Given the description of an element on the screen output the (x, y) to click on. 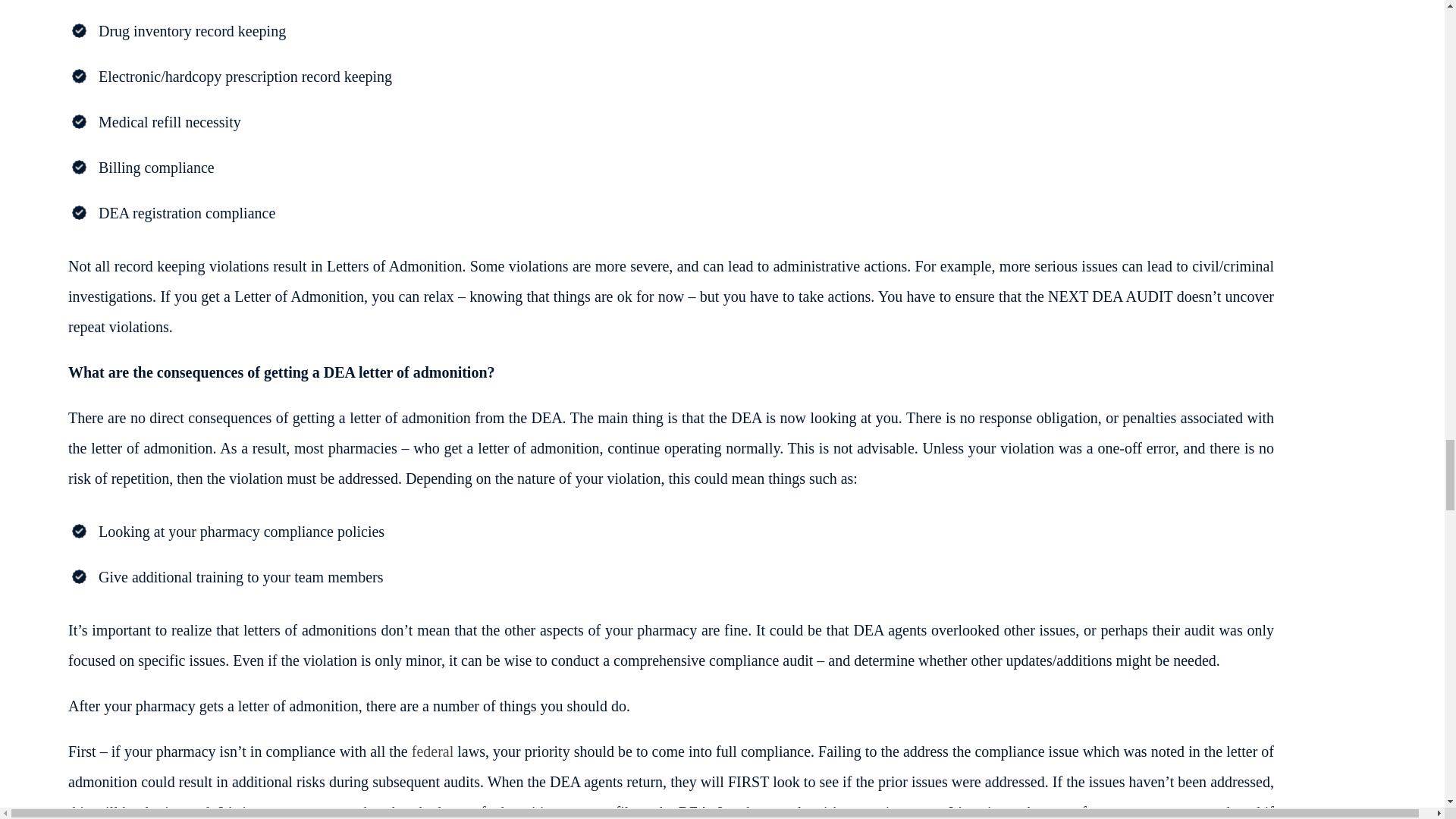
federal (433, 751)
